Given the description of an element on the screen output the (x, y) to click on. 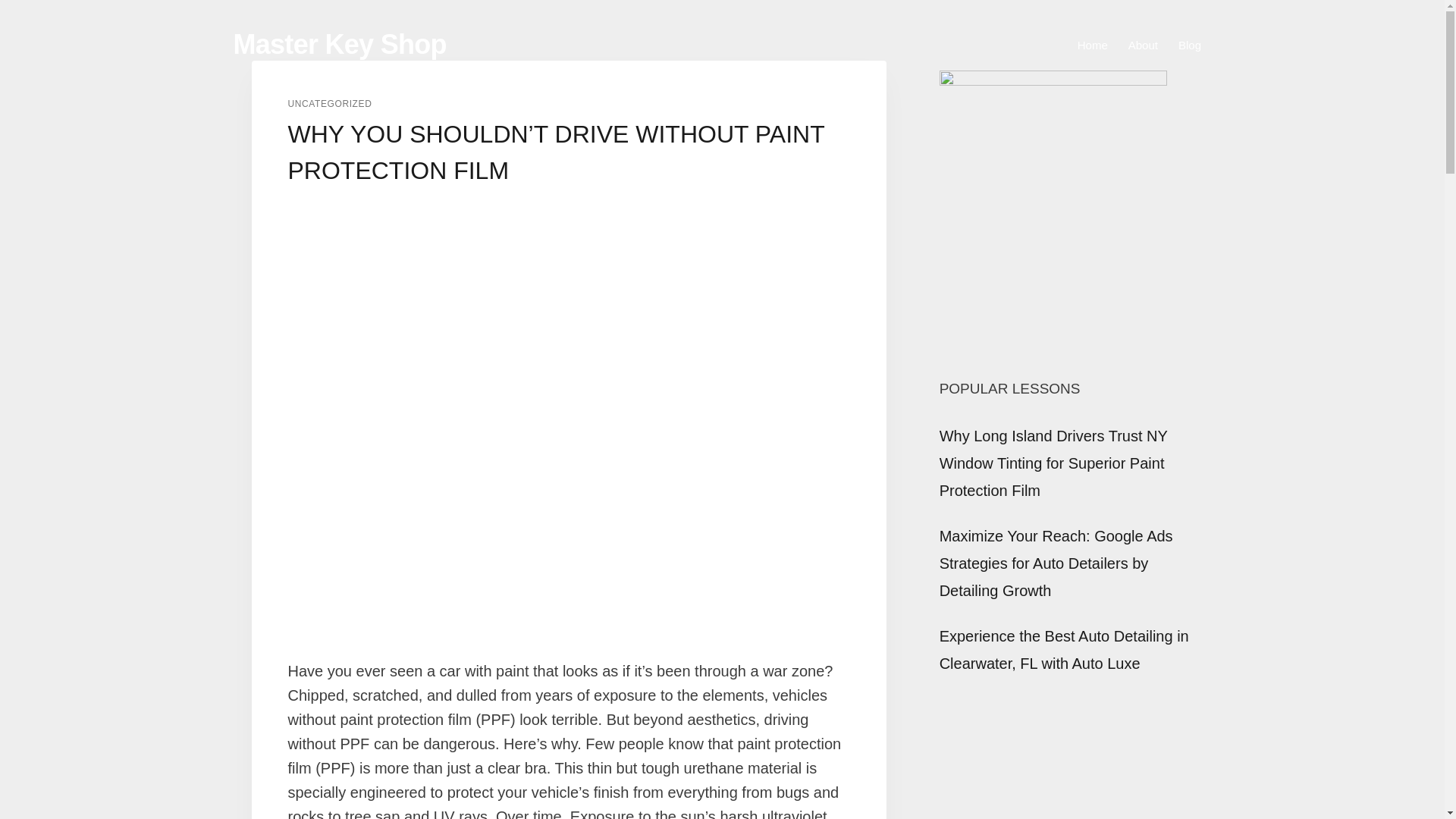
Blog (1189, 44)
Master Key Shop (339, 44)
About (1142, 44)
UNCATEGORIZED (330, 103)
Home (1092, 44)
